Given the description of an element on the screen output the (x, y) to click on. 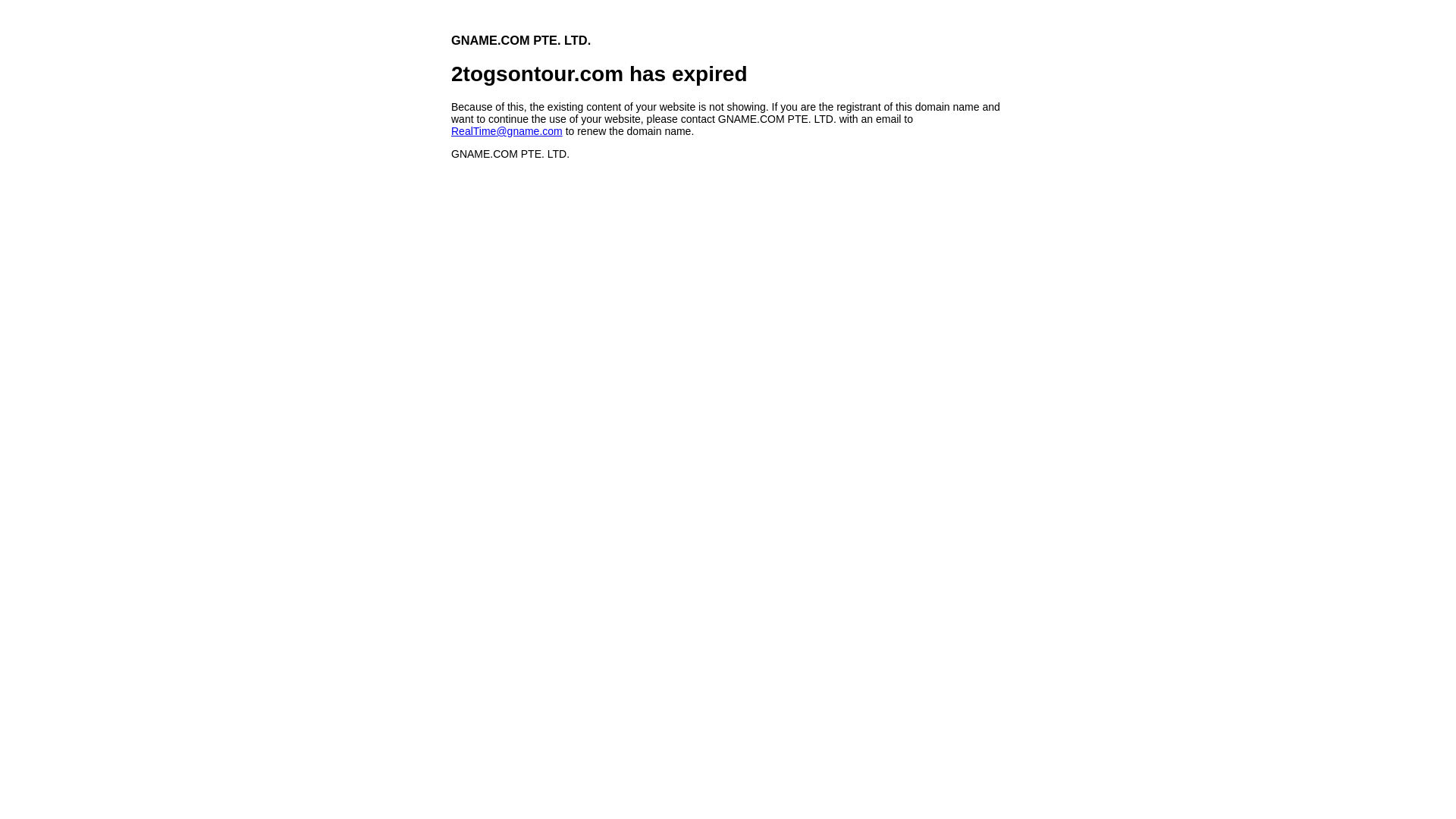
RealTime@gname.com Element type: text (506, 131)
